Given the description of an element on the screen output the (x, y) to click on. 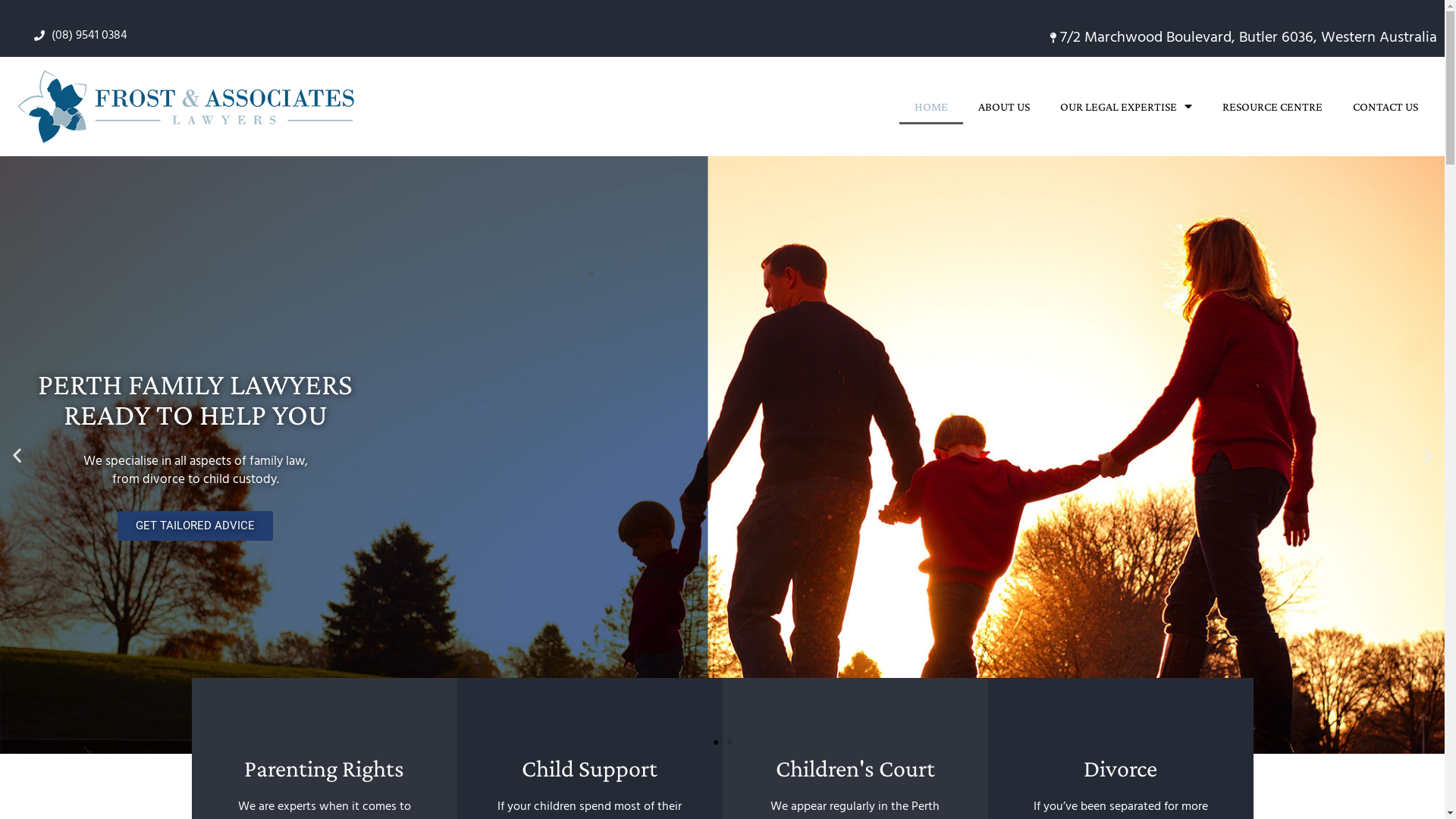
(08) 9541 0384 Element type: text (378, 35)
HOME Element type: text (931, 106)
ABOUT US Element type: text (1003, 106)
RESOURCE CENTRE Element type: text (1272, 106)
CONTACT US Element type: text (1385, 106)
OUR LEGAL EXPERTISE Element type: text (1125, 106)
7/2 Marchwood Boulevard, Butler 6036, Western Australia Element type: text (1100, 37)
